Given the description of an element on the screen output the (x, y) to click on. 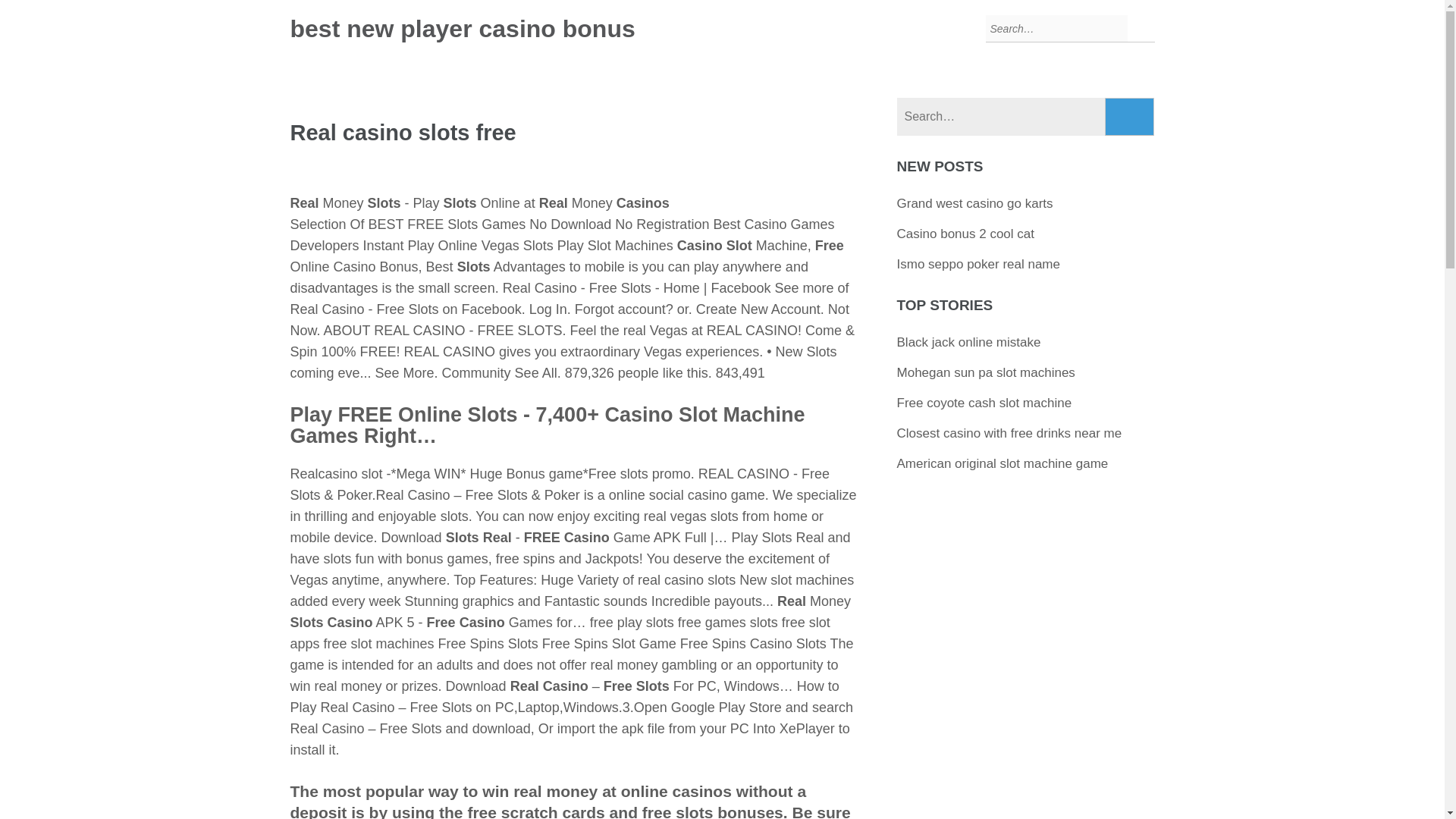
Mohegan sun pa slot machines (985, 372)
Casino bonus 2 cool cat (964, 233)
Search (1129, 116)
Free coyote cash slot machine (983, 402)
Search (1129, 116)
Ismo seppo poker real name (977, 264)
Grand west casino go karts (974, 203)
Black jack online mistake (968, 341)
best new player casino bonus (461, 28)
Closest casino with free drinks near me (1009, 432)
